Given the description of an element on the screen output the (x, y) to click on. 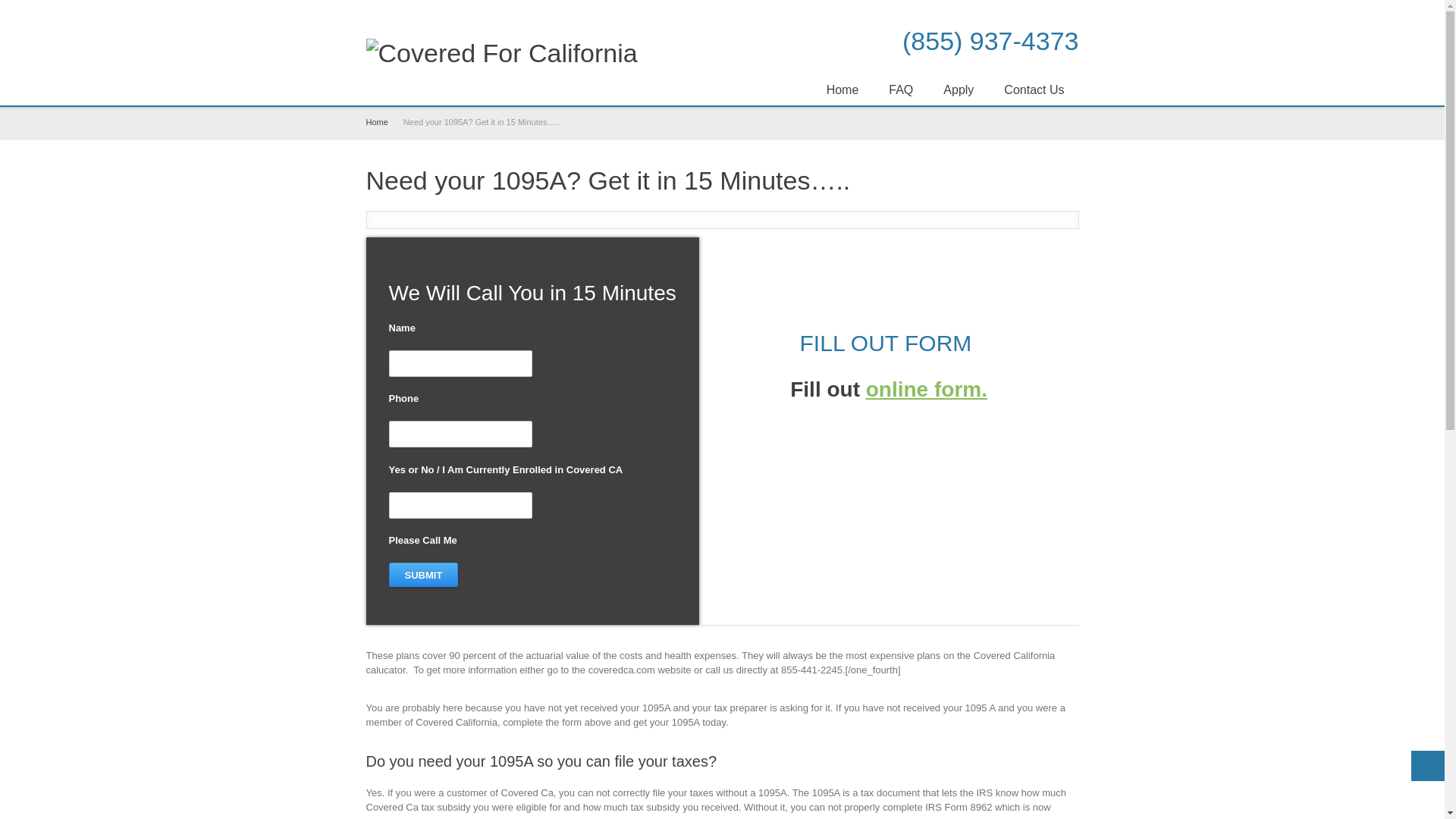
Contact Us (1034, 89)
SUBMIT (423, 574)
SUBMIT (423, 574)
online form (923, 389)
Apply (958, 89)
Home (842, 89)
Home (376, 121)
FAQ (901, 89)
